Given the description of an element on the screen output the (x, y) to click on. 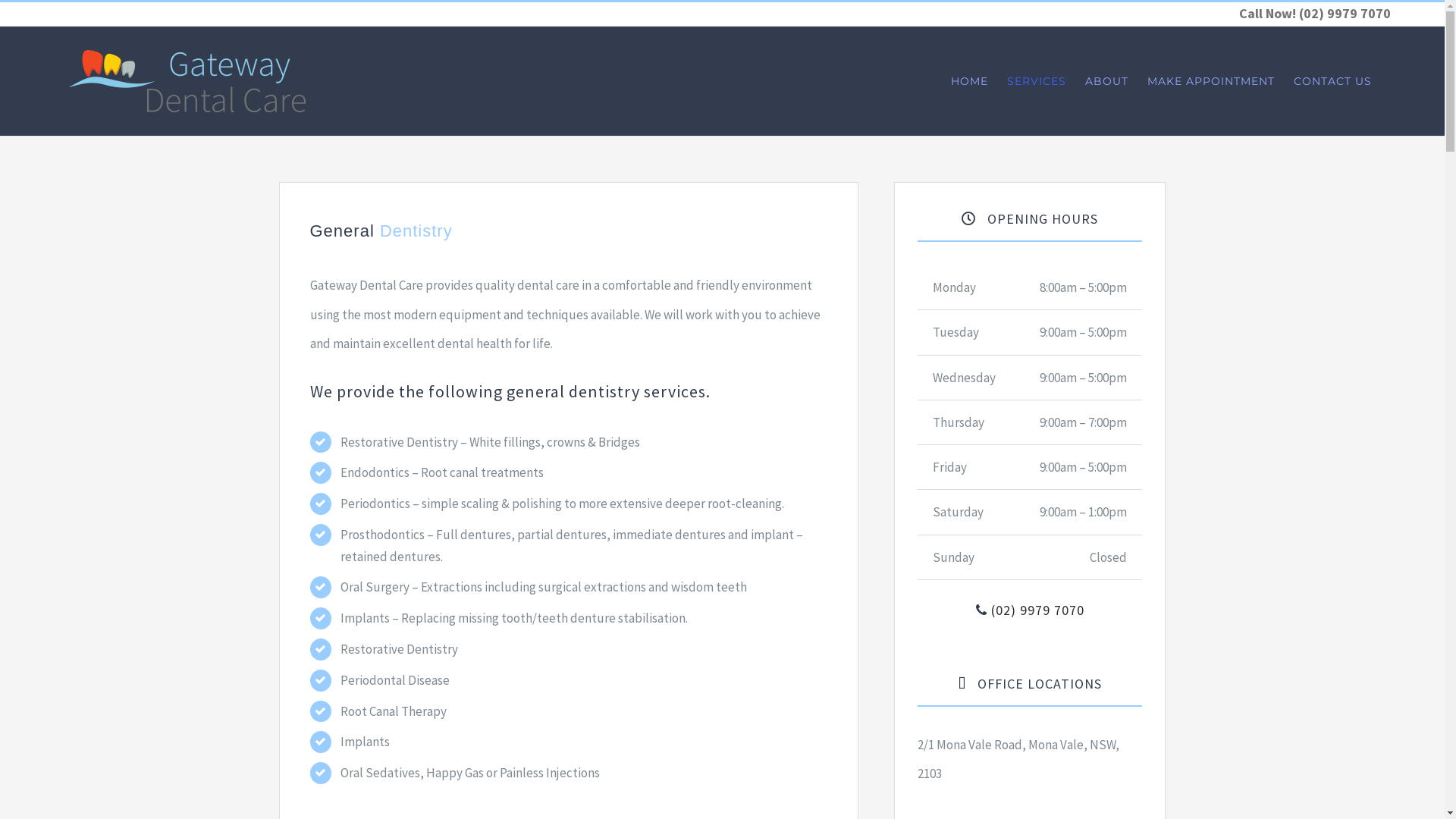
SERVICES Element type: text (1036, 80)
MAKE APPOINTMENT Element type: text (1210, 80)
CONTACT US Element type: text (1332, 80)
HOME Element type: text (969, 80)
Call Now! (02) 9979 7070 Element type: text (1314, 12)
ABOUT Element type: text (1106, 80)
(02) 9979 7070 Element type: text (1035, 609)
